Given the description of an element on the screen output the (x, y) to click on. 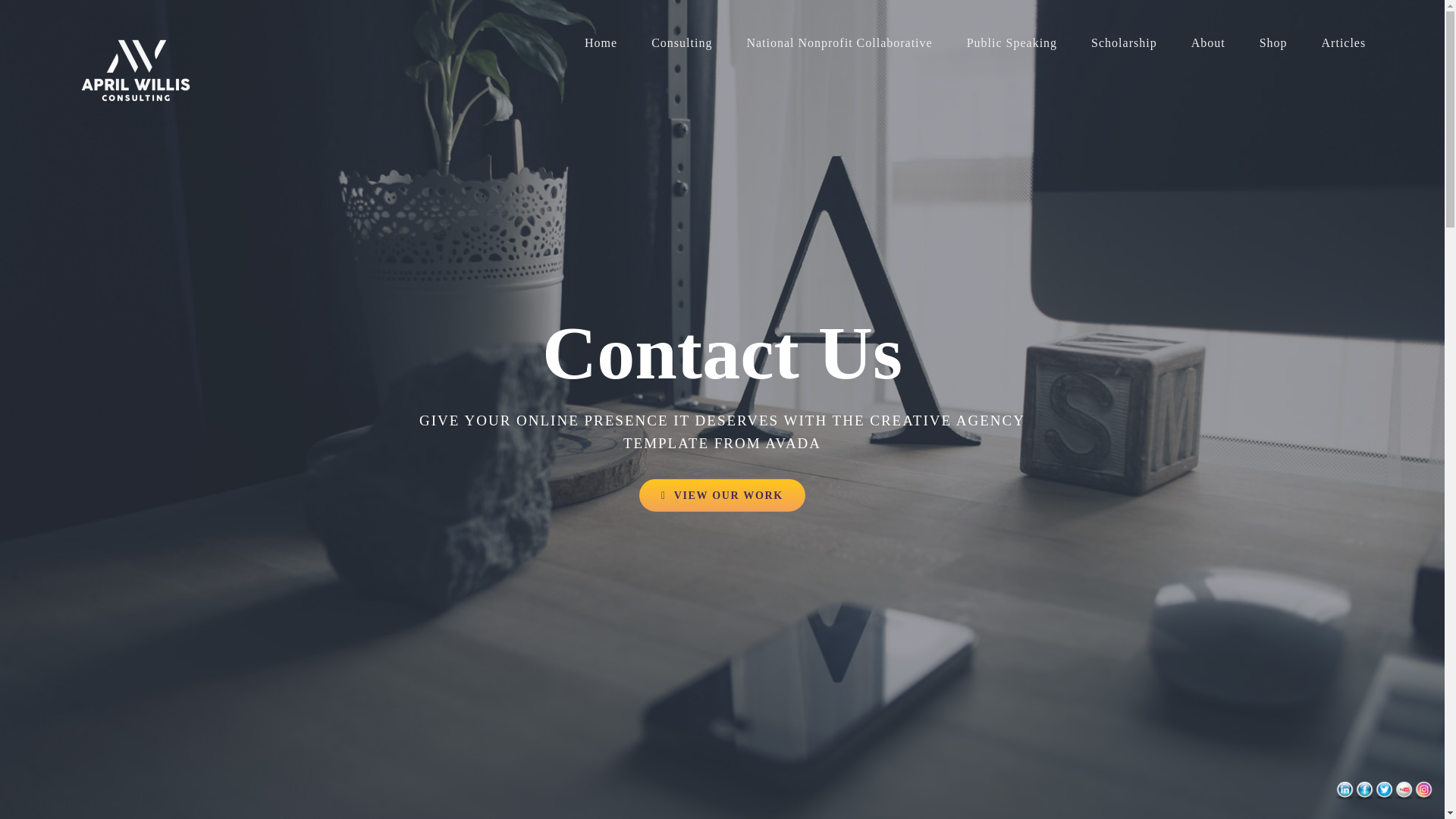
Visit Us On Instagram (1422, 791)
About (1208, 42)
Scholarship (1123, 42)
Home (601, 42)
Visit Us On Youtube (1403, 791)
Shop (1273, 42)
Visit Us On Linkedin (1344, 791)
National Nonprofit Collaborative (838, 42)
Articles (1344, 42)
Consulting (680, 42)
Public Speaking (1011, 42)
Visit Us On Facebook (1364, 791)
VIEW OUR WORK (722, 494)
Visit Us On Twitter (1383, 791)
